Given the description of an element on the screen output the (x, y) to click on. 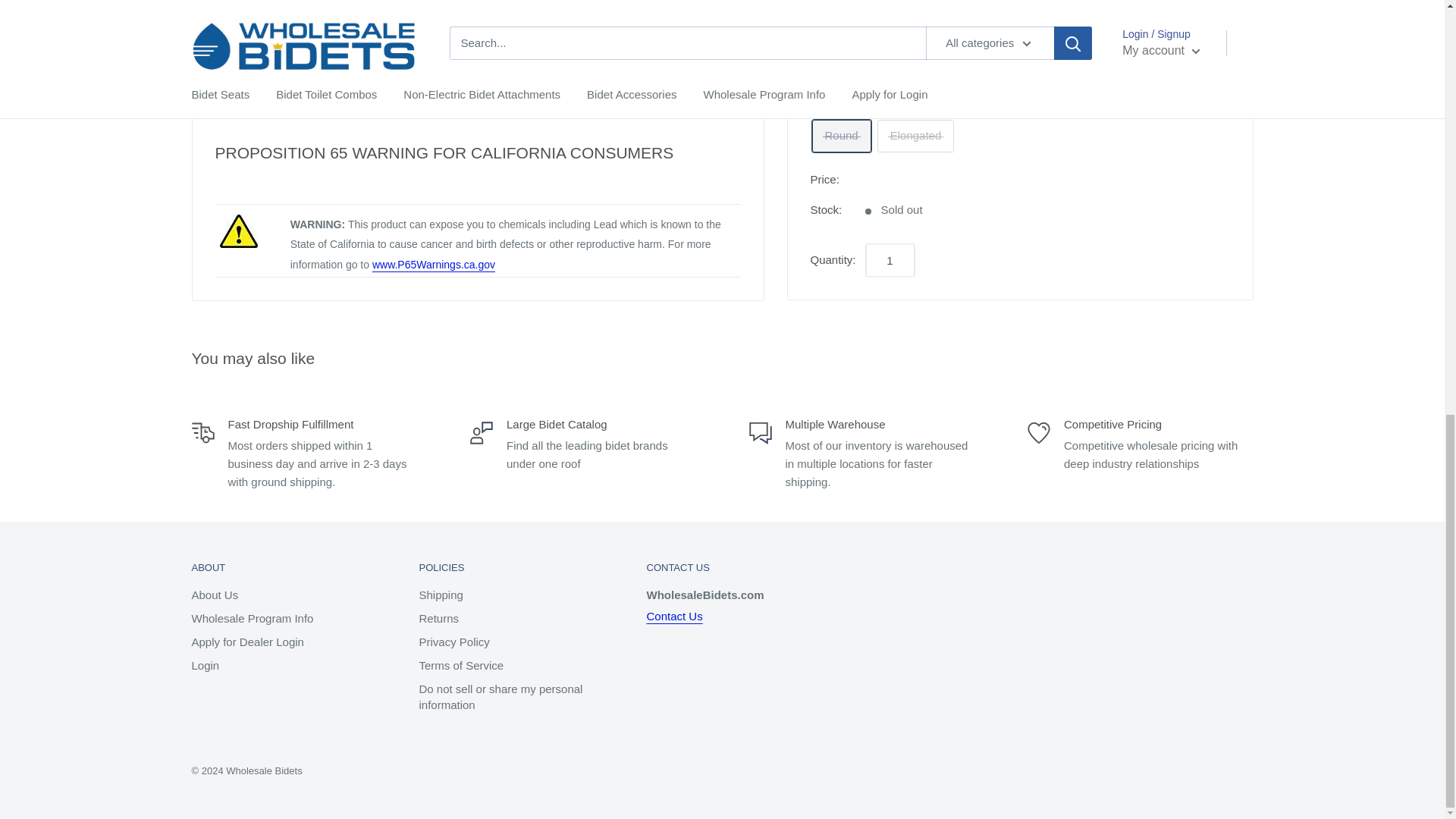
Contact Us (673, 615)
